Given the description of an element on the screen output the (x, y) to click on. 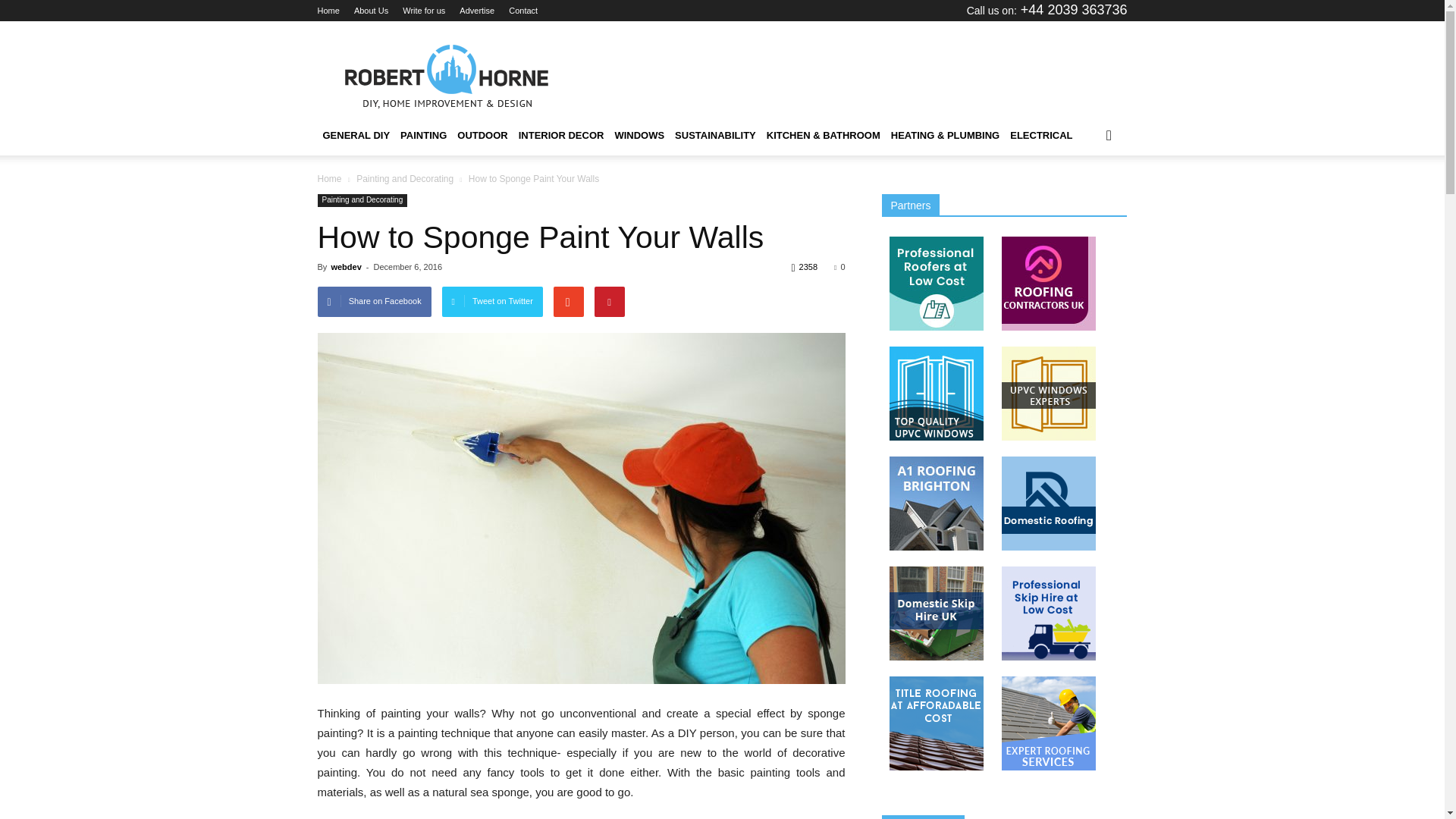
Write for us (424, 10)
ELECTRICAL (1040, 135)
Advertise (477, 10)
Contact (522, 10)
WINDOWS (638, 135)
About Us (370, 10)
Home (328, 10)
SUSTAINABILITY (715, 135)
GENERAL DIY (355, 135)
PAINTING (422, 135)
View all posts in Painting and Decorating (405, 178)
INTERIOR DECOR (561, 135)
OUTDOOR (481, 135)
